Given the description of an element on the screen output the (x, y) to click on. 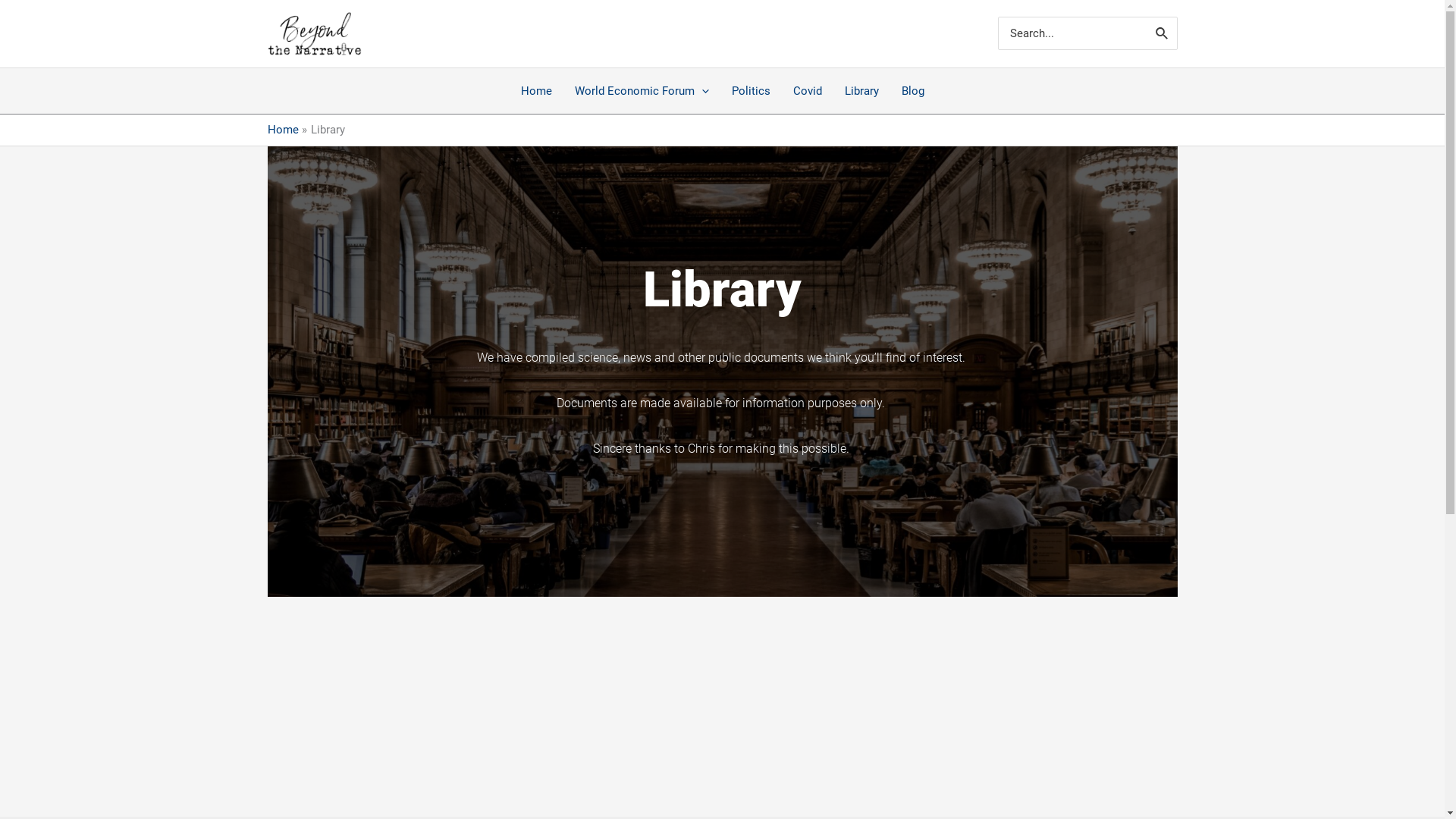
Library Element type: text (860, 90)
World Economic Forum Element type: text (640, 90)
Covid Element type: text (806, 90)
Search Element type: text (1162, 33)
Politics Element type: text (750, 90)
Home Element type: text (536, 90)
Blog Element type: text (912, 90)
Home Element type: text (282, 129)
